Given the description of an element on the screen output the (x, y) to click on. 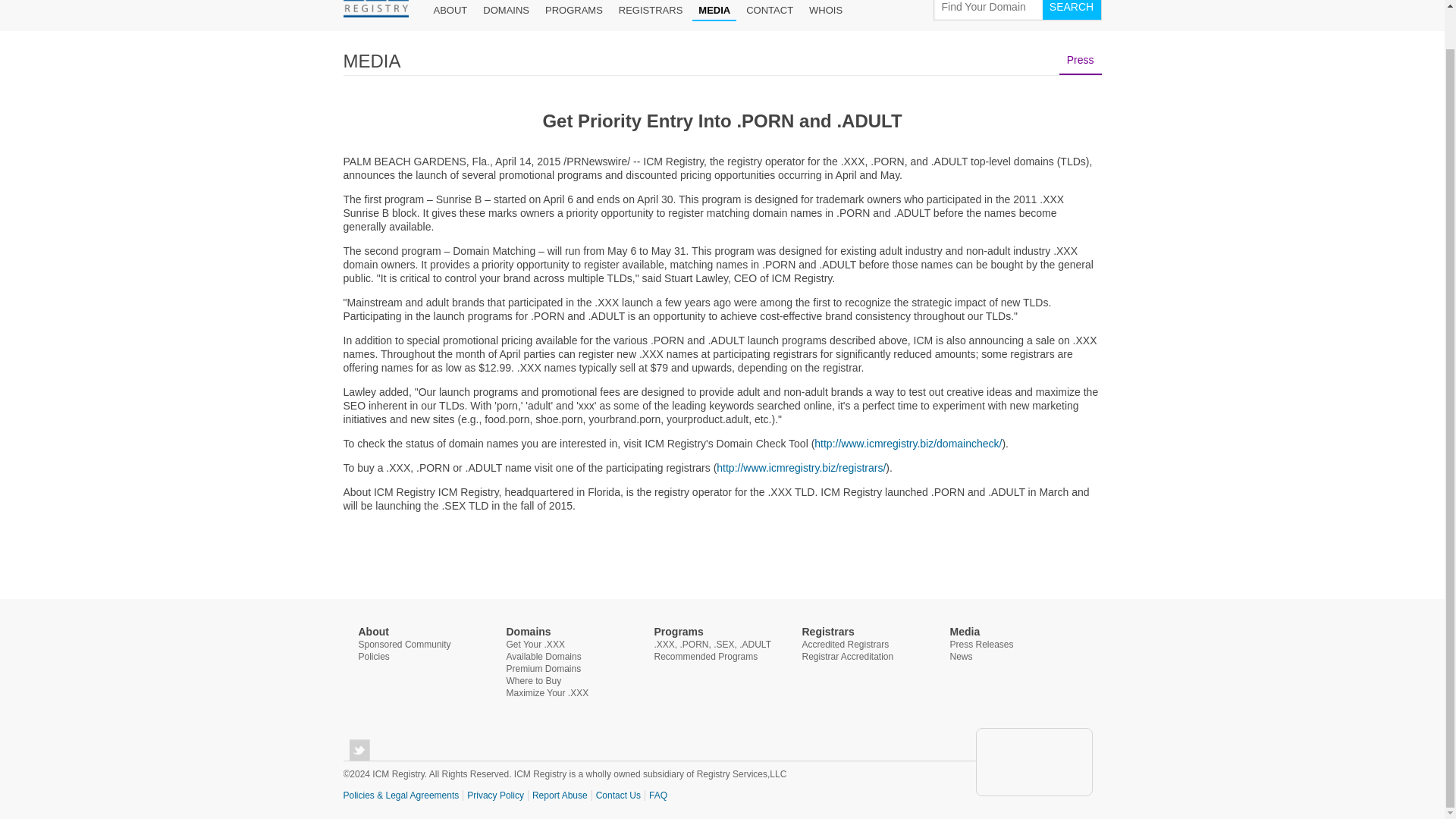
Press (1080, 60)
Recommended Programs (705, 656)
Sponsored Community (403, 644)
Premium Domains (543, 668)
REGISTRARS (650, 8)
Policies (373, 656)
Get Your .XXX (535, 644)
Accredited Registrars (845, 644)
PROGRAMS (573, 8)
Where to Buy (534, 680)
